Given the description of an element on the screen output the (x, y) to click on. 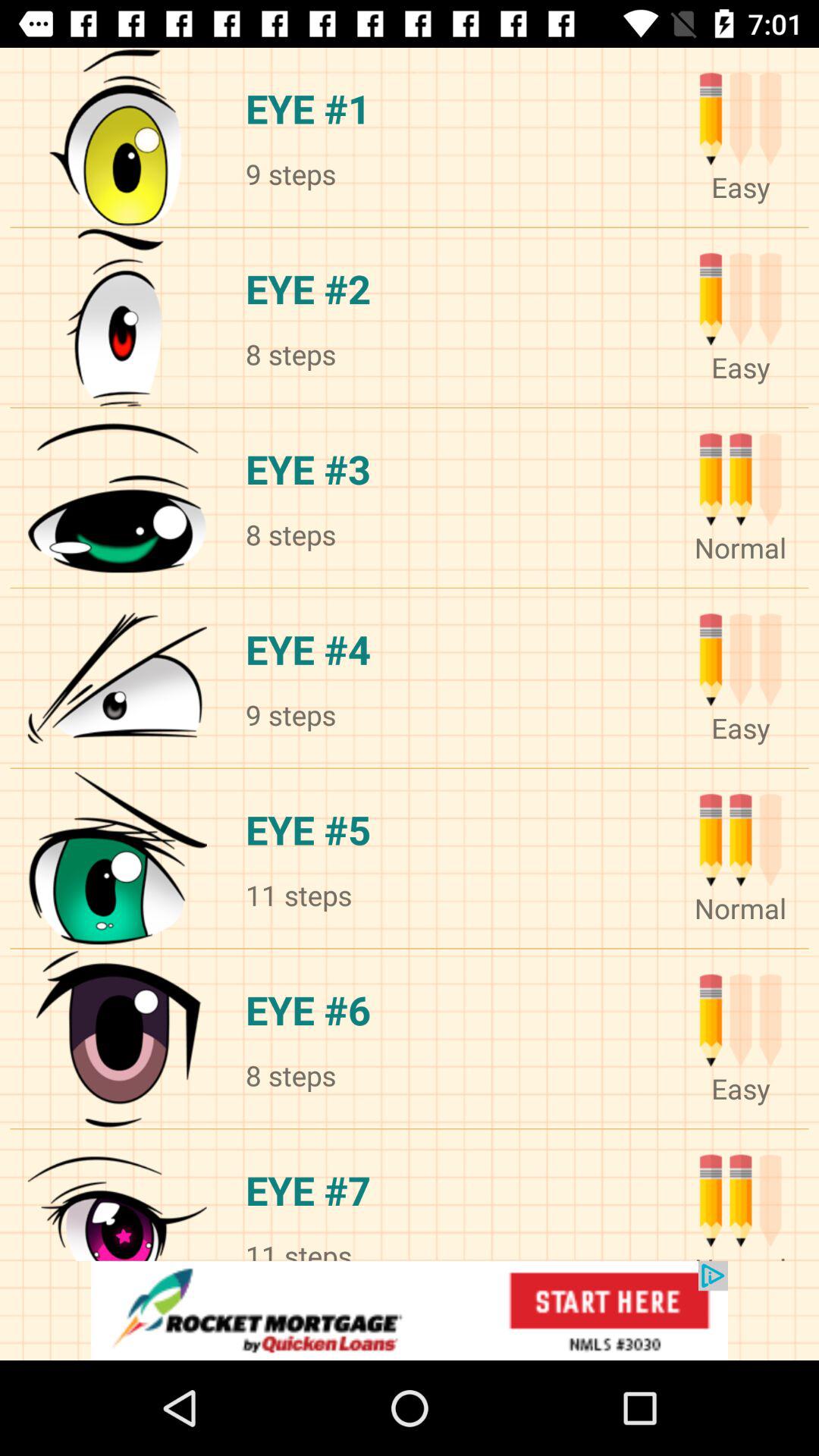
open advertisement (409, 1310)
